Given the description of an element on the screen output the (x, y) to click on. 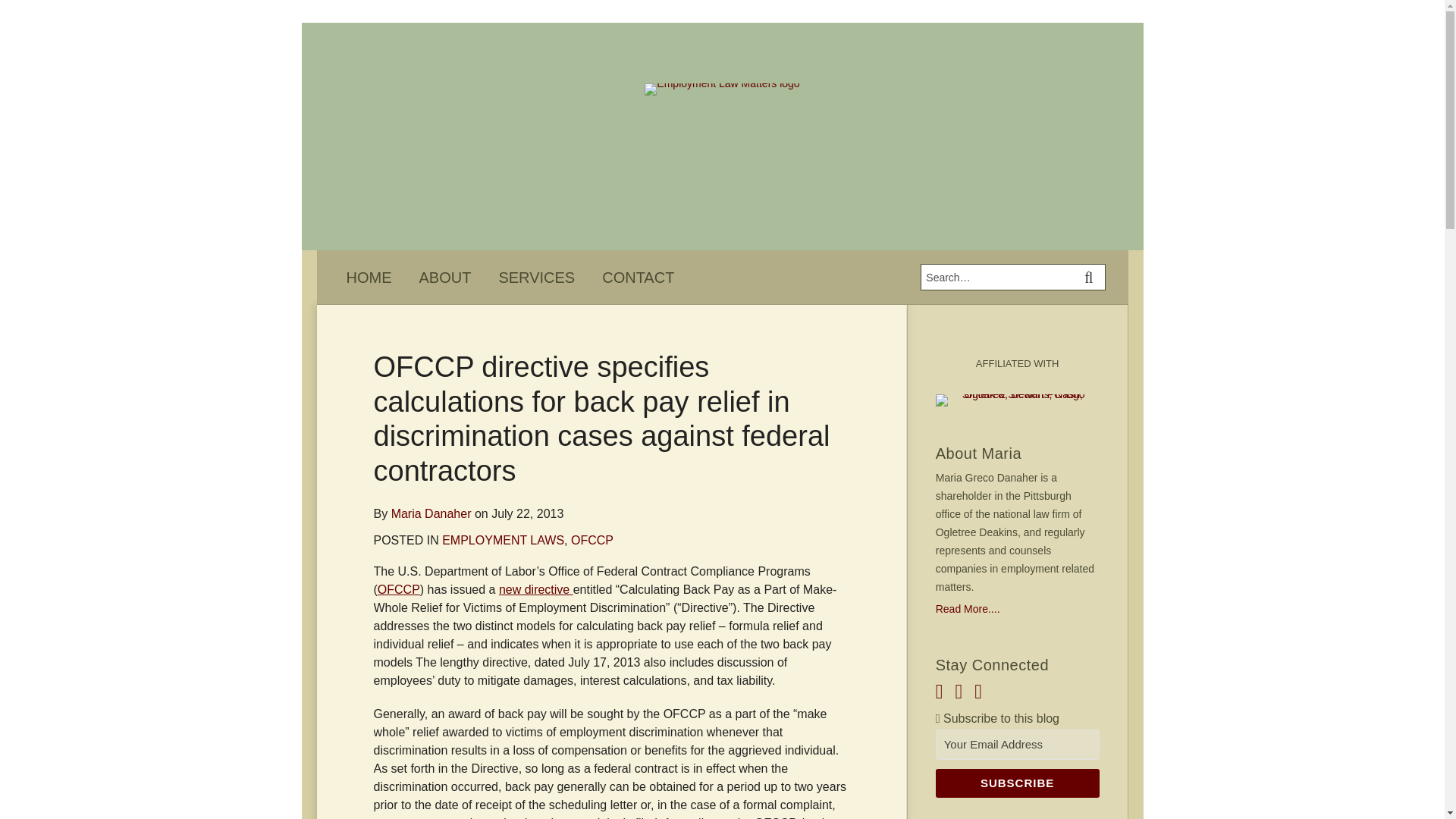
new directive (536, 589)
EMPLOYMENT LAWS (503, 540)
OFCCP (591, 540)
ABOUT (444, 277)
Maria Danaher (431, 513)
Subscribe (1017, 783)
OFCCP (398, 589)
SEARCH (1090, 276)
HOME (368, 277)
SERVICES (536, 277)
CONTACT (638, 277)
